Given the description of an element on the screen output the (x, y) to click on. 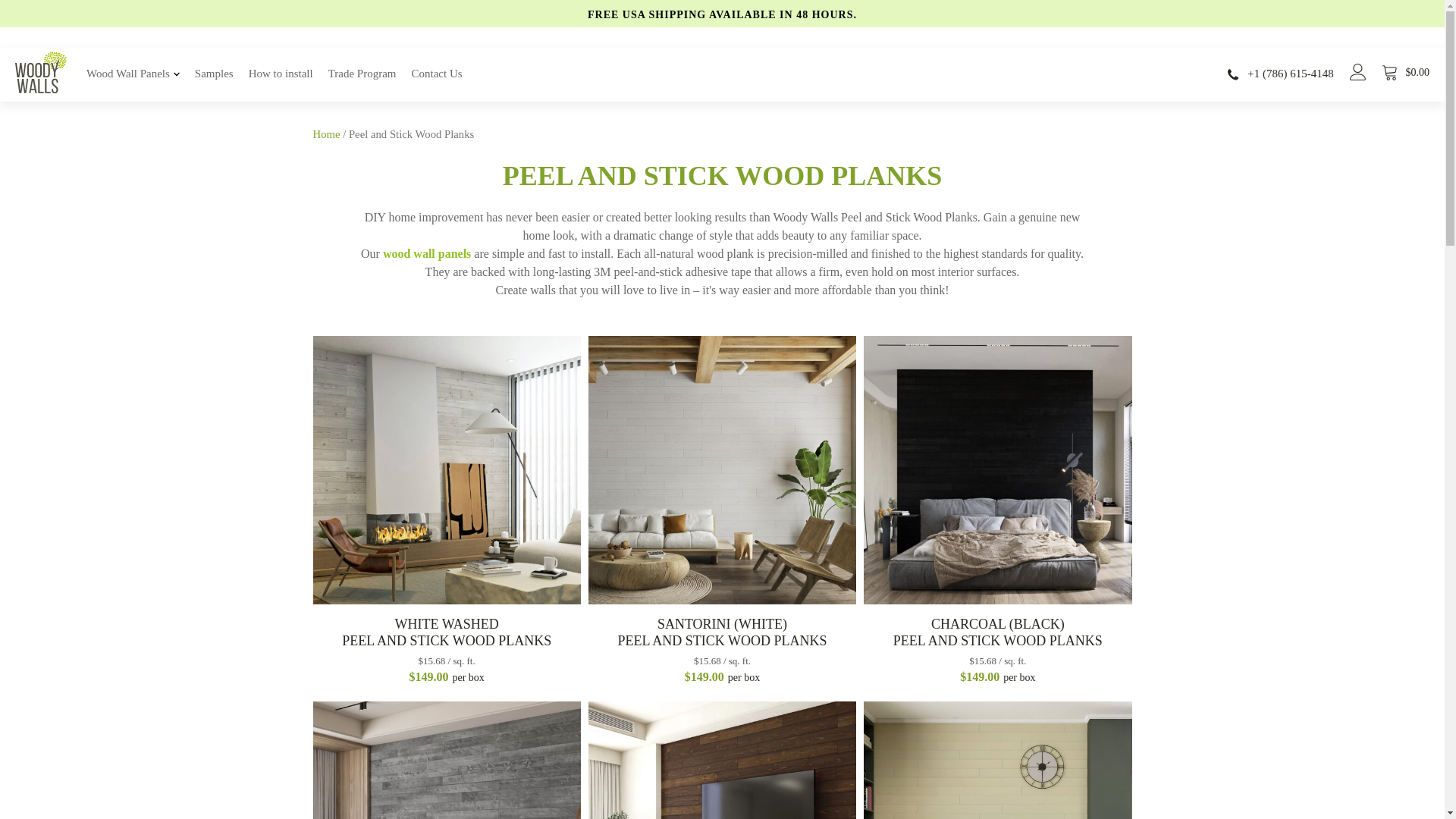
Wood Wall Panels (132, 73)
Contact Us (437, 73)
Trade Program (362, 73)
How to install (280, 73)
Samples (214, 73)
FREE USA SHIPPING AVAILABLE IN 48 HOURS. (722, 14)
